Given the description of an element on the screen output the (x, y) to click on. 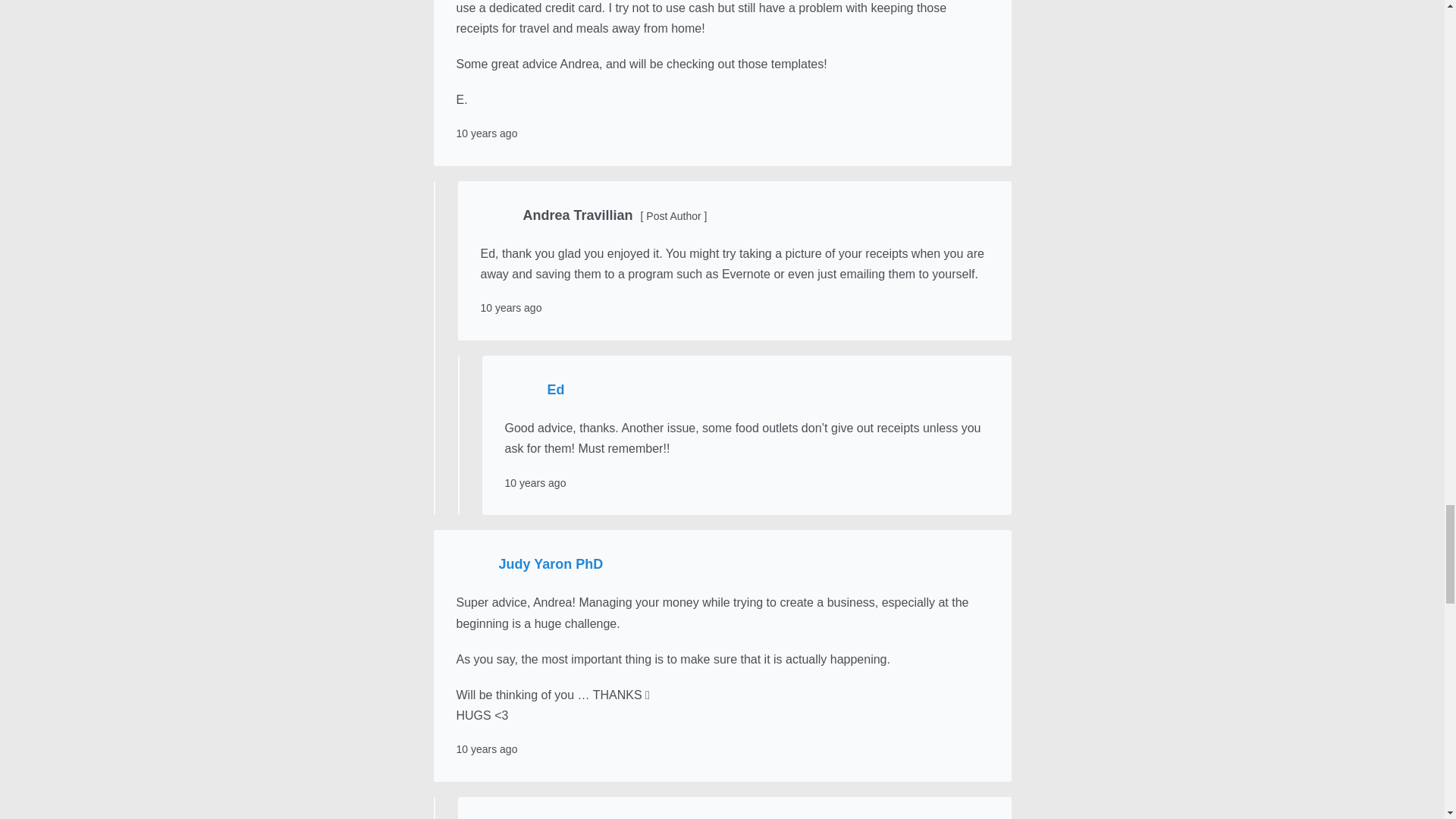
2014-07-23T09:13:12-05:00 (535, 482)
2014-07-18T08:48:04-05:00 (487, 133)
2014-07-21T10:01:35-05:00 (510, 307)
2014-07-16T14:38:57-05:00 (487, 748)
